Given the description of an element on the screen output the (x, y) to click on. 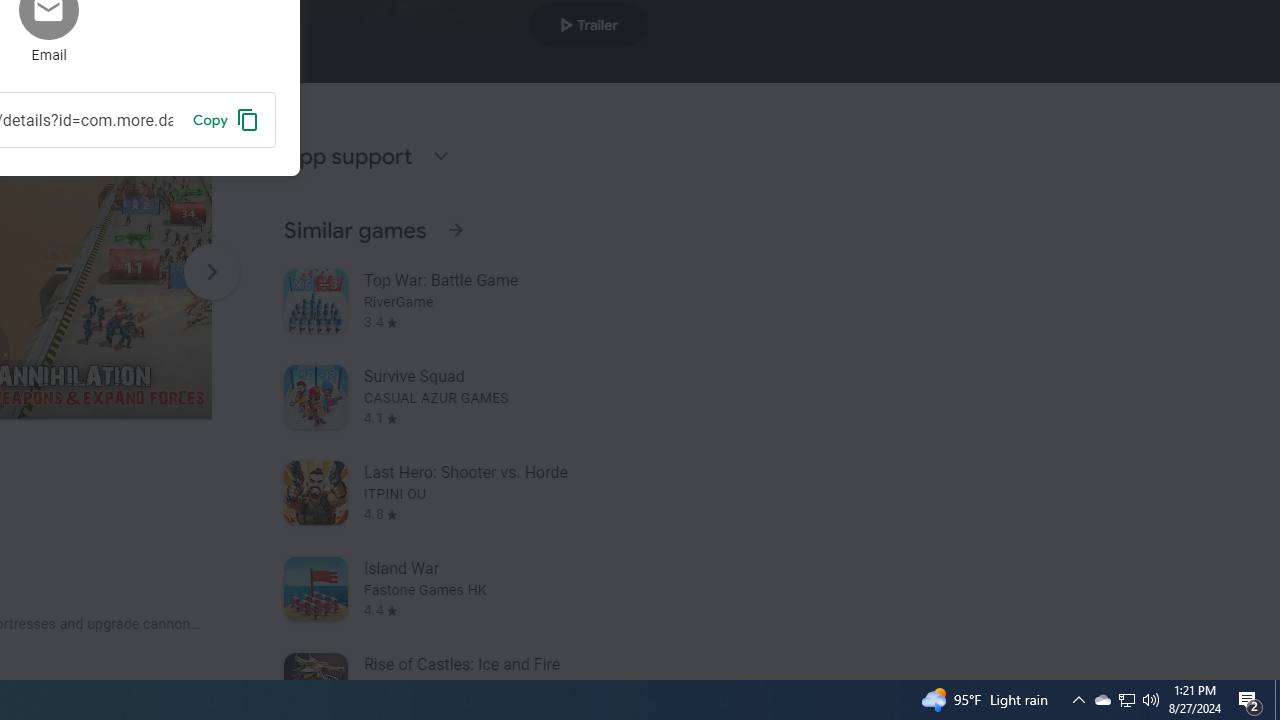
Copy link to clipboard (225, 119)
